Given the description of an element on the screen output the (x, y) to click on. 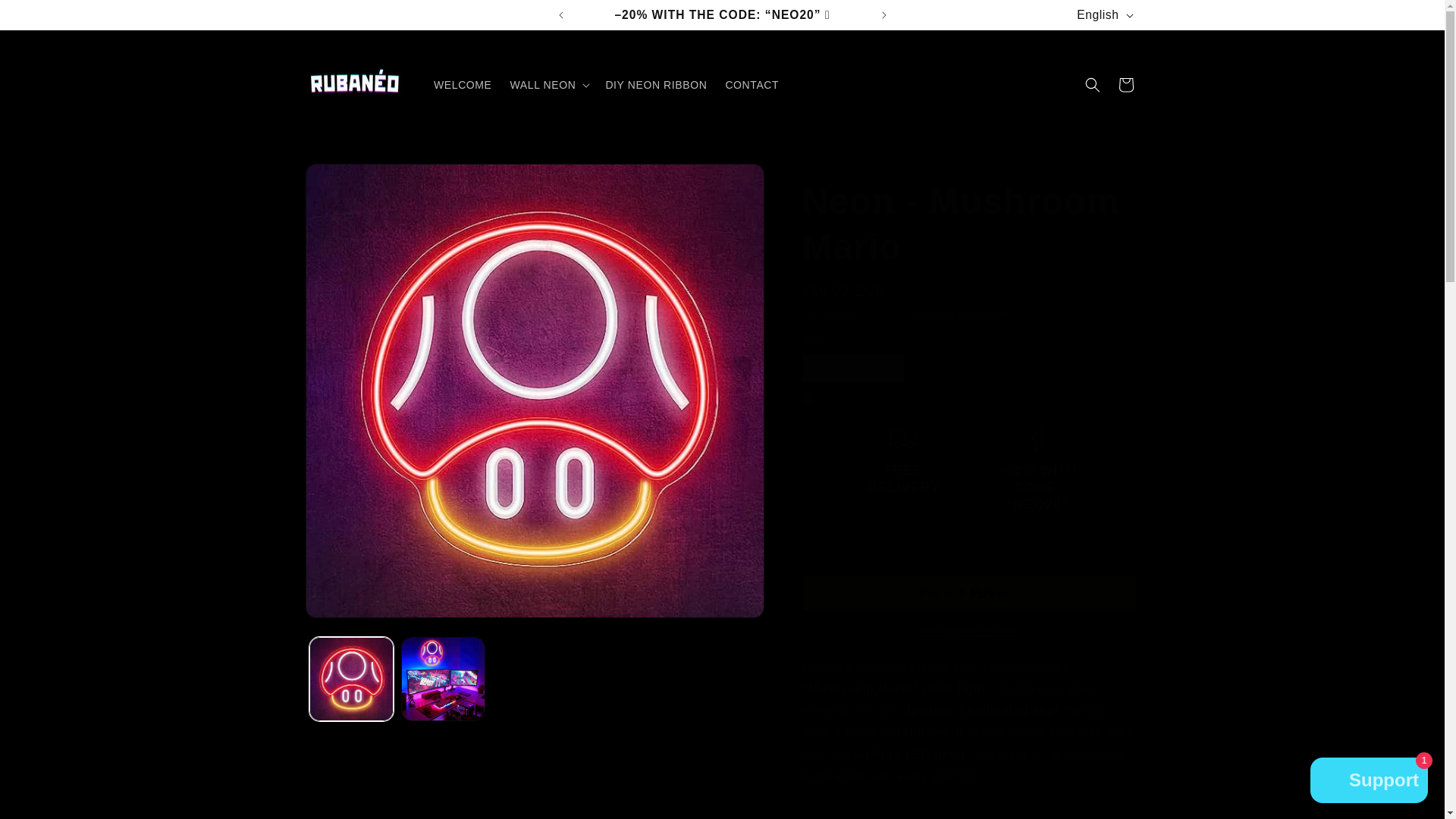
English (1102, 14)
WELCOME (462, 84)
Skip to content (45, 17)
Shopify online store chat (1369, 781)
